Given the description of an element on the screen output the (x, y) to click on. 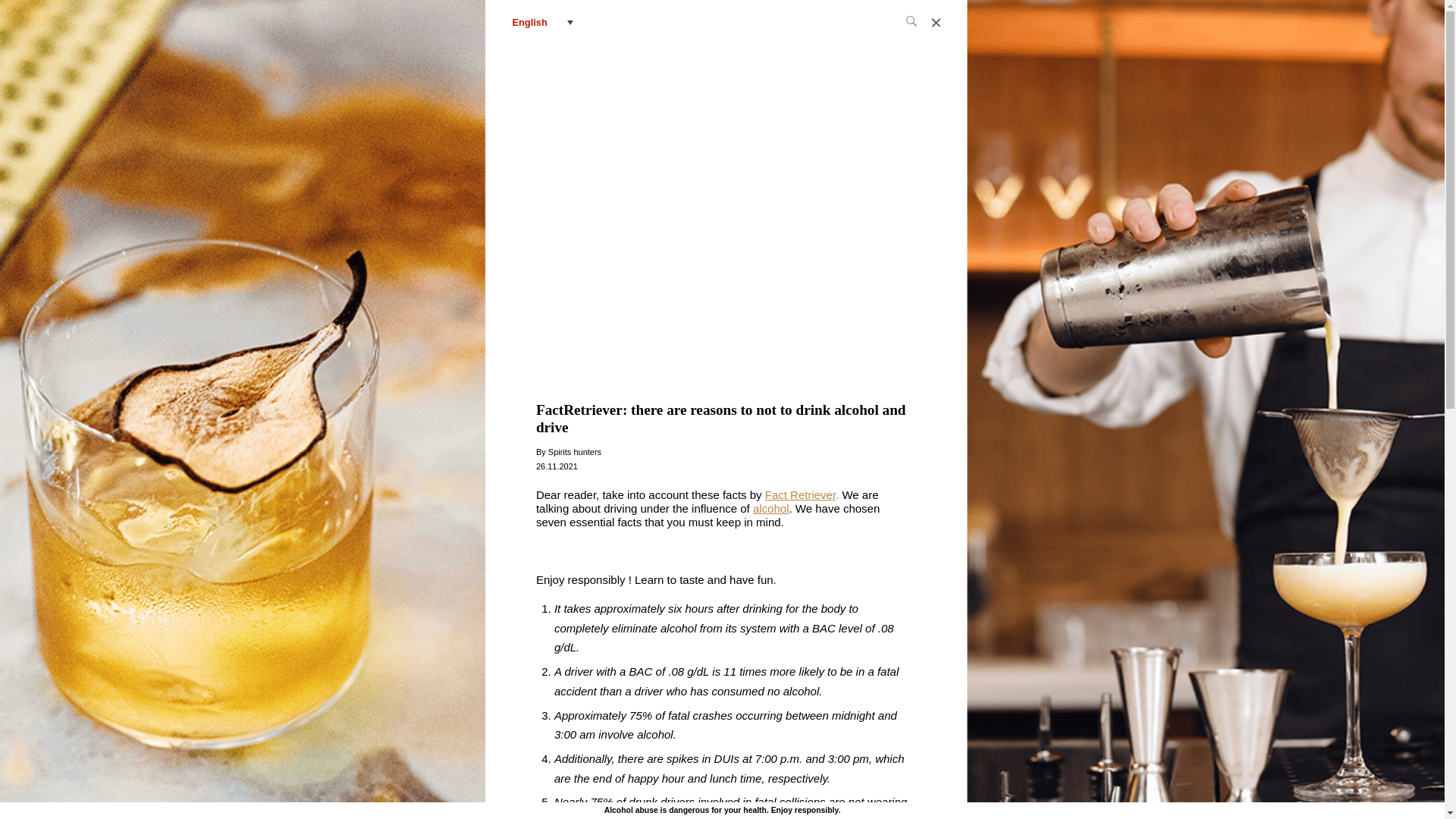
Spirit Hunters (722, 21)
English (542, 22)
